Given the description of an element on the screen output the (x, y) to click on. 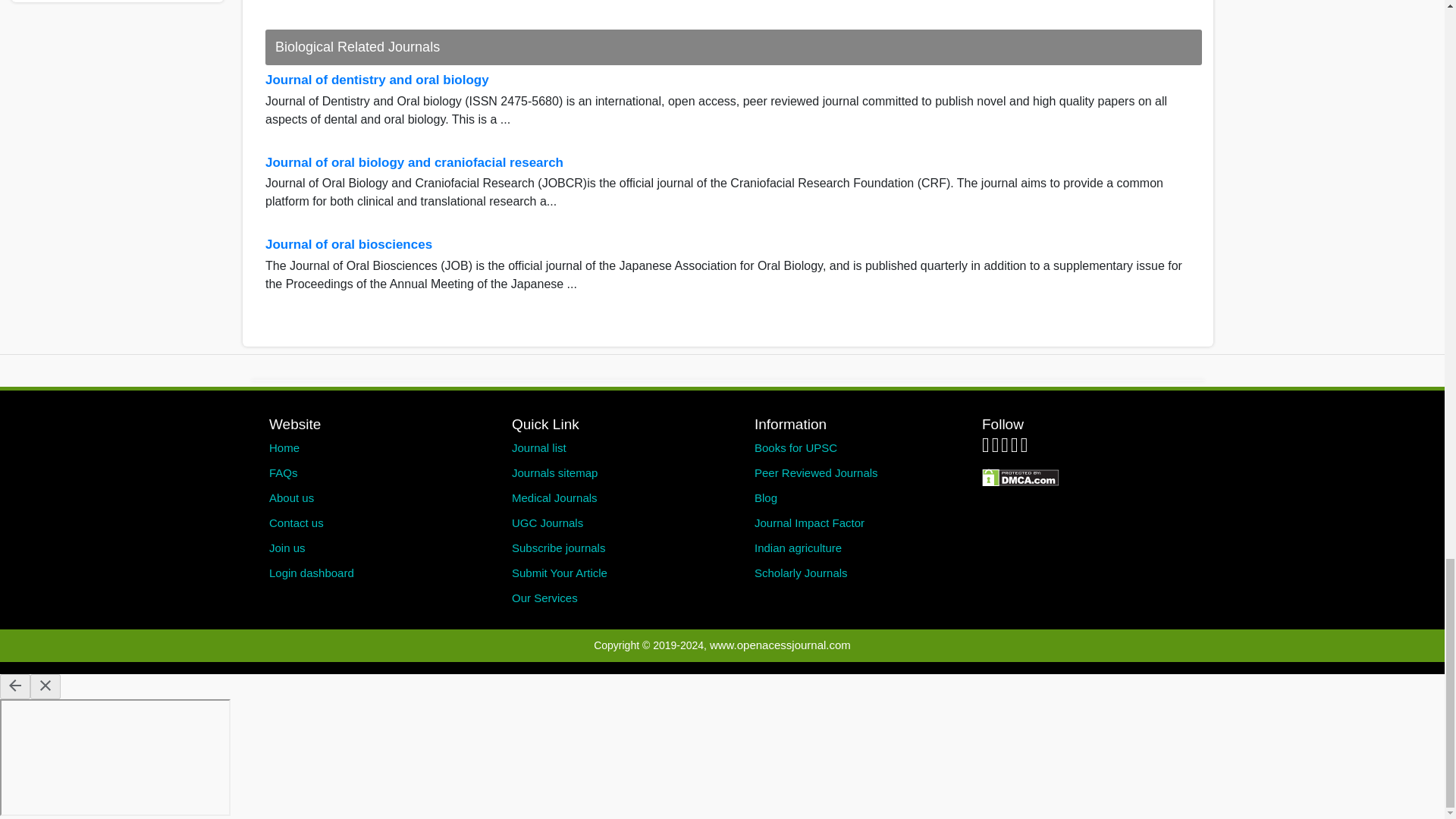
DMCA.com Protection Status (1020, 476)
